Given the description of an element on the screen output the (x, y) to click on. 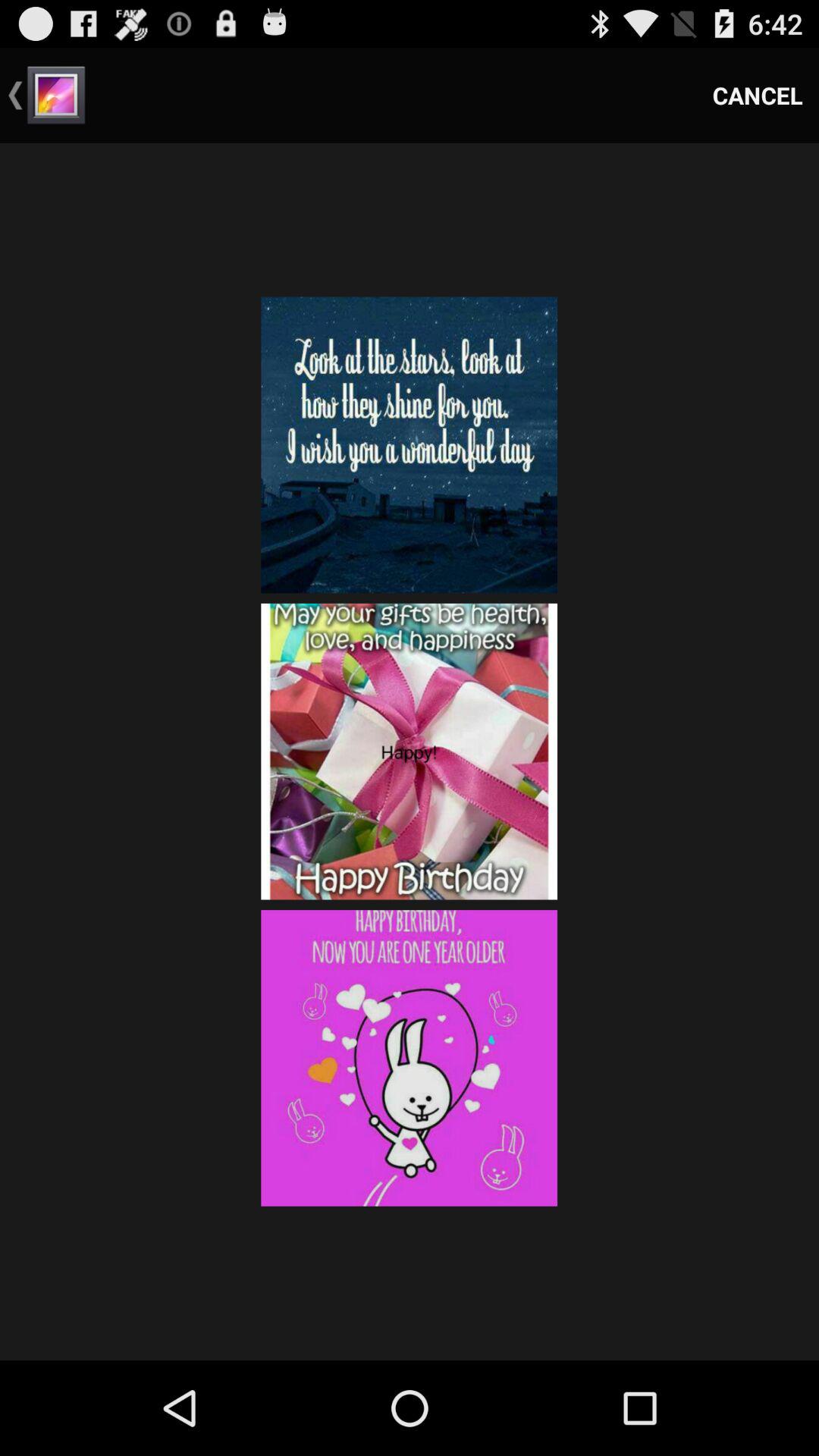
swipe to the cancel item (757, 95)
